Given the description of an element on the screen output the (x, y) to click on. 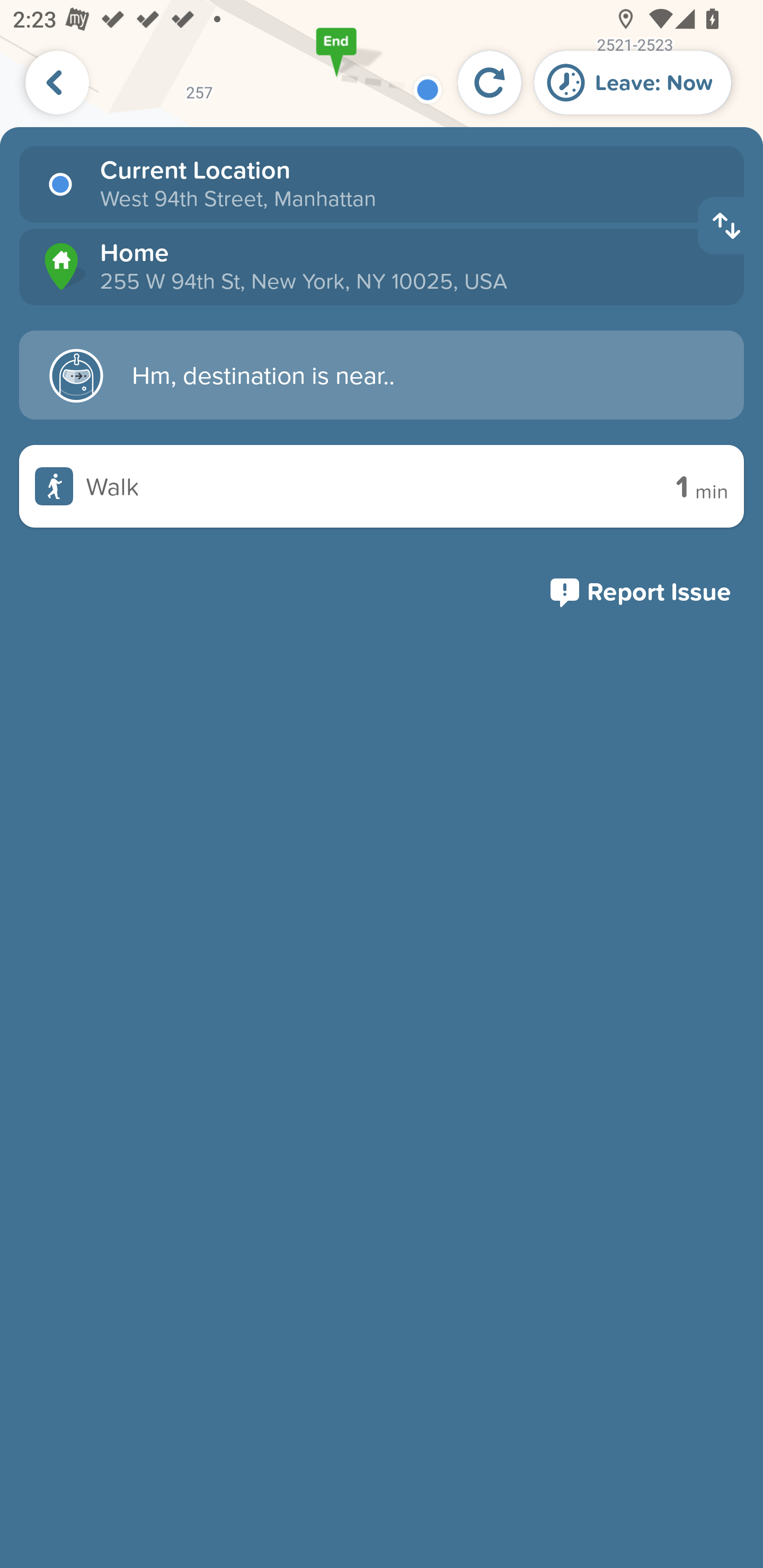
Current Location West 94th Street, Manhattan (381, 183)
